Given the description of an element on the screen output the (x, y) to click on. 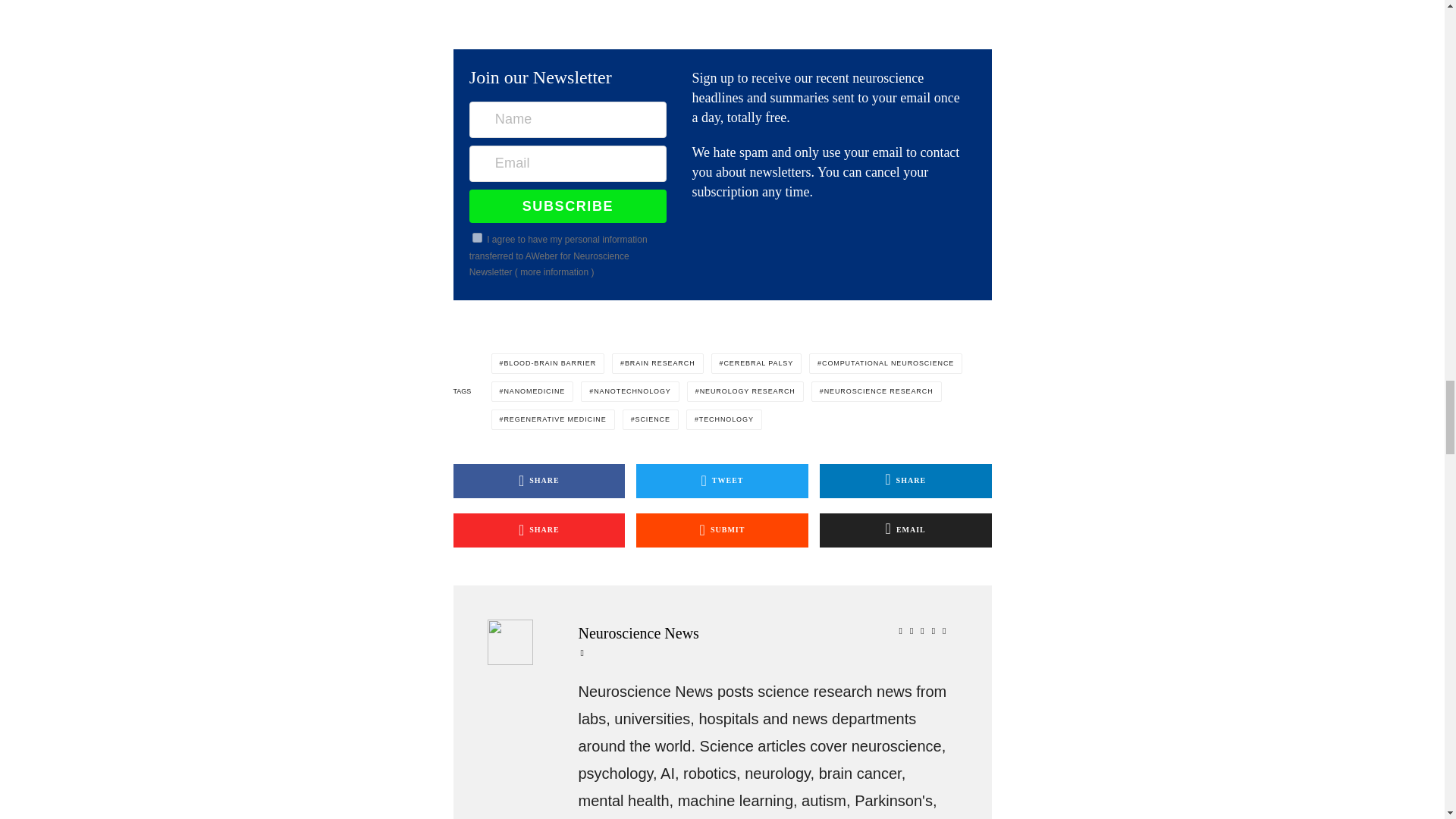
Neuroscience News (765, 633)
COMPUTATIONAL NEUROSCIENCE (885, 362)
SUBMIT (722, 530)
NANOTECHNOLOGY (629, 391)
BRAIN RESEARCH (657, 362)
SHARE (539, 480)
NANOMEDICINE (532, 391)
BLOOD-BRAIN BARRIER (548, 362)
SHARE (905, 480)
EMAIL (905, 530)
